Given the description of an element on the screen output the (x, y) to click on. 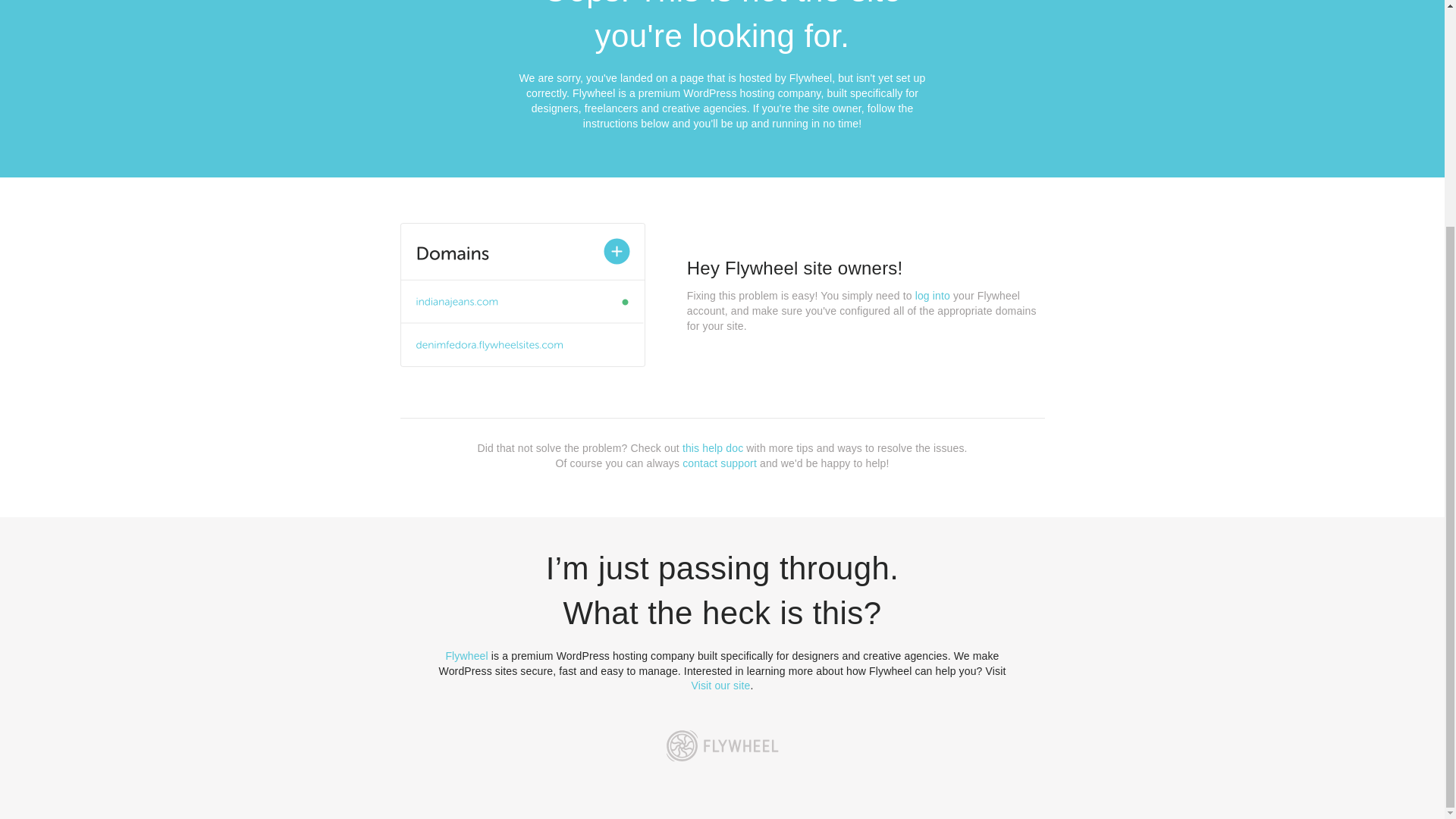
this help doc (712, 448)
Flywheel (466, 655)
log into (932, 295)
Visit our site (721, 685)
contact support (719, 463)
